Given the description of an element on the screen output the (x, y) to click on. 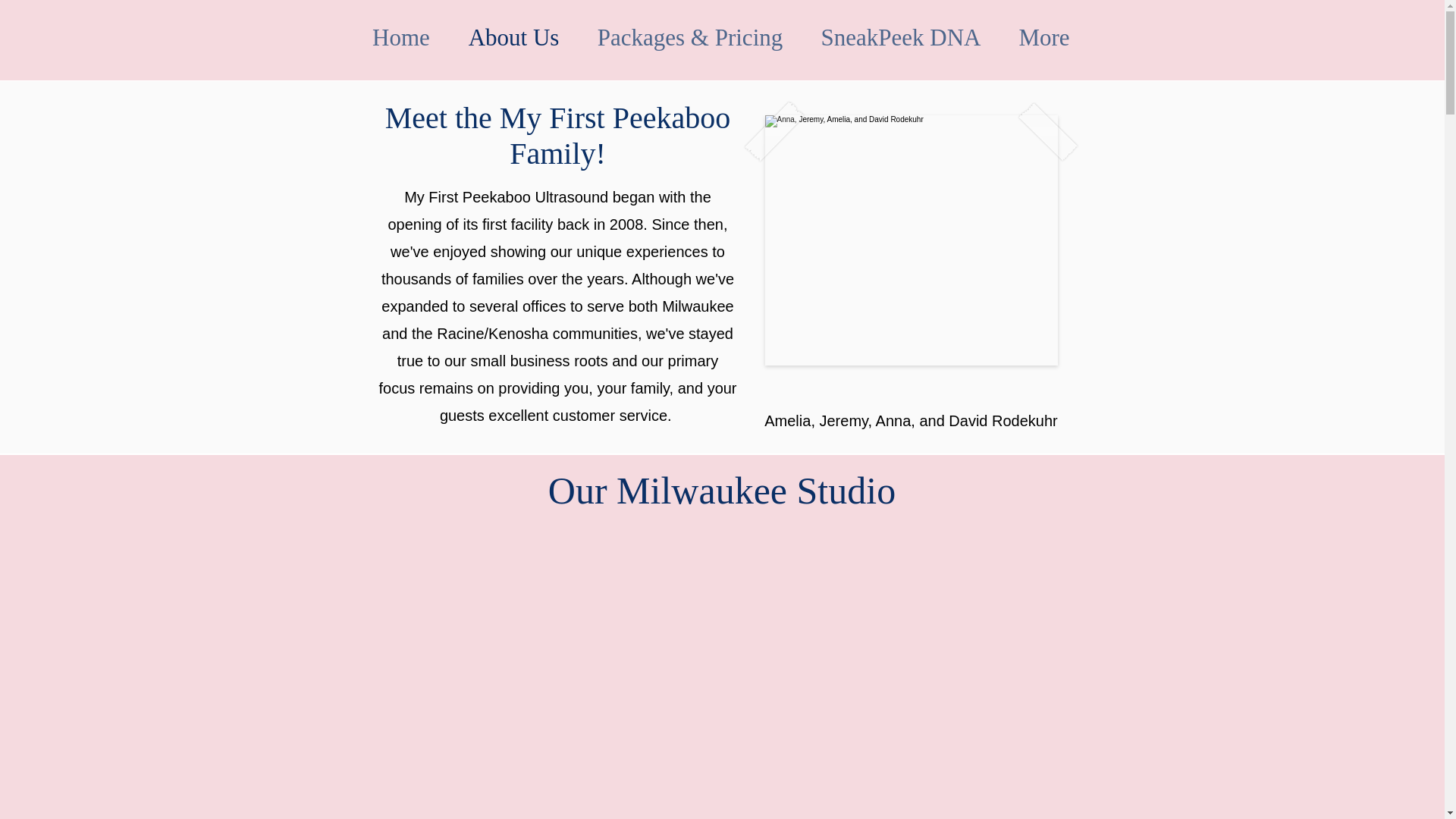
Home (401, 37)
About Us (513, 37)
SneakPeek DNA (901, 37)
